Given the description of an element on the screen output the (x, y) to click on. 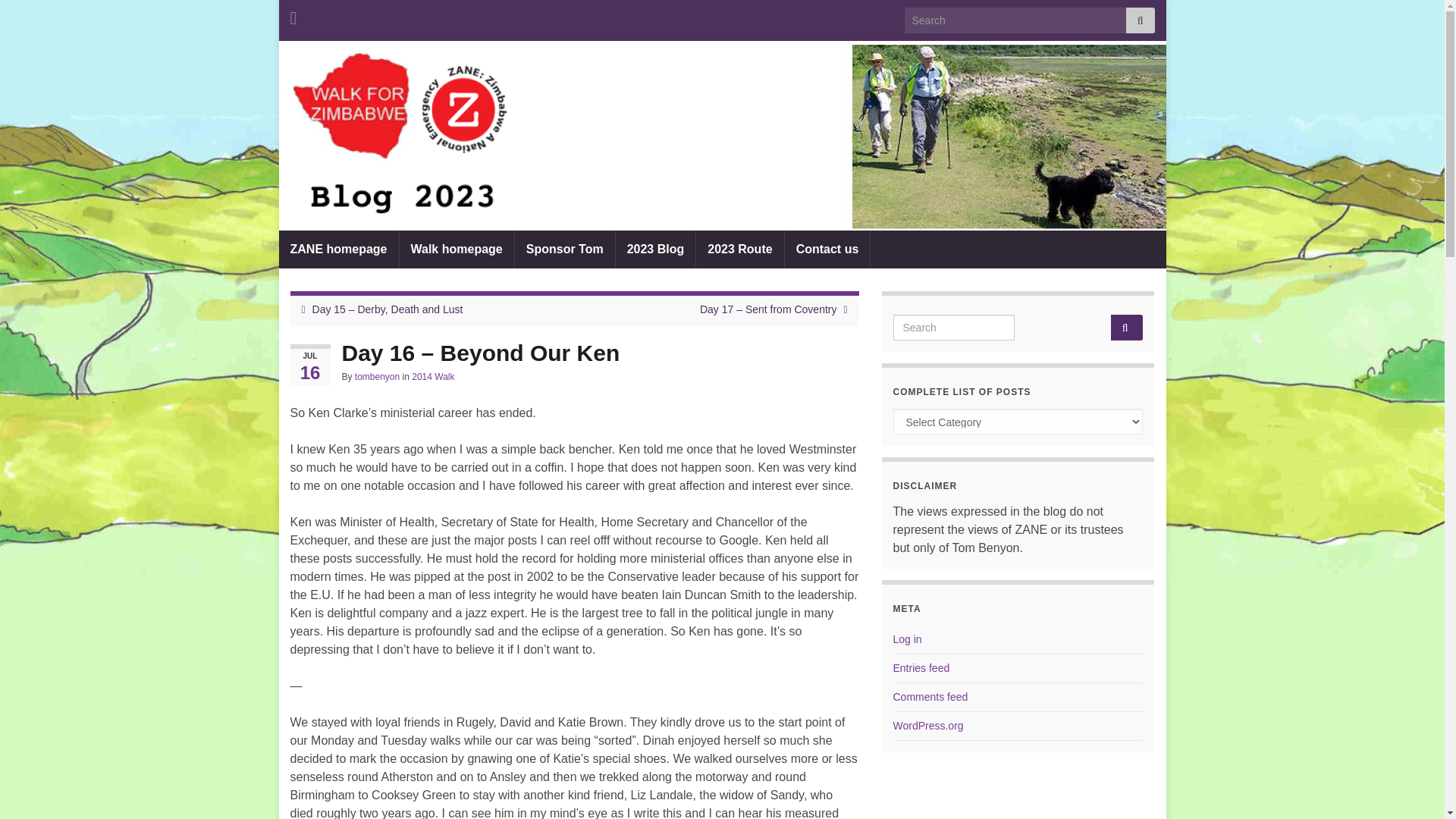
2023 Route (739, 249)
Walk homepage (455, 249)
Log in (907, 639)
Comments feed (930, 696)
2023 Blog (655, 249)
tombenyon (376, 376)
2014 Walk (433, 376)
Sponsor Tom (564, 249)
WordPress.org (928, 725)
